Given the description of an element on the screen output the (x, y) to click on. 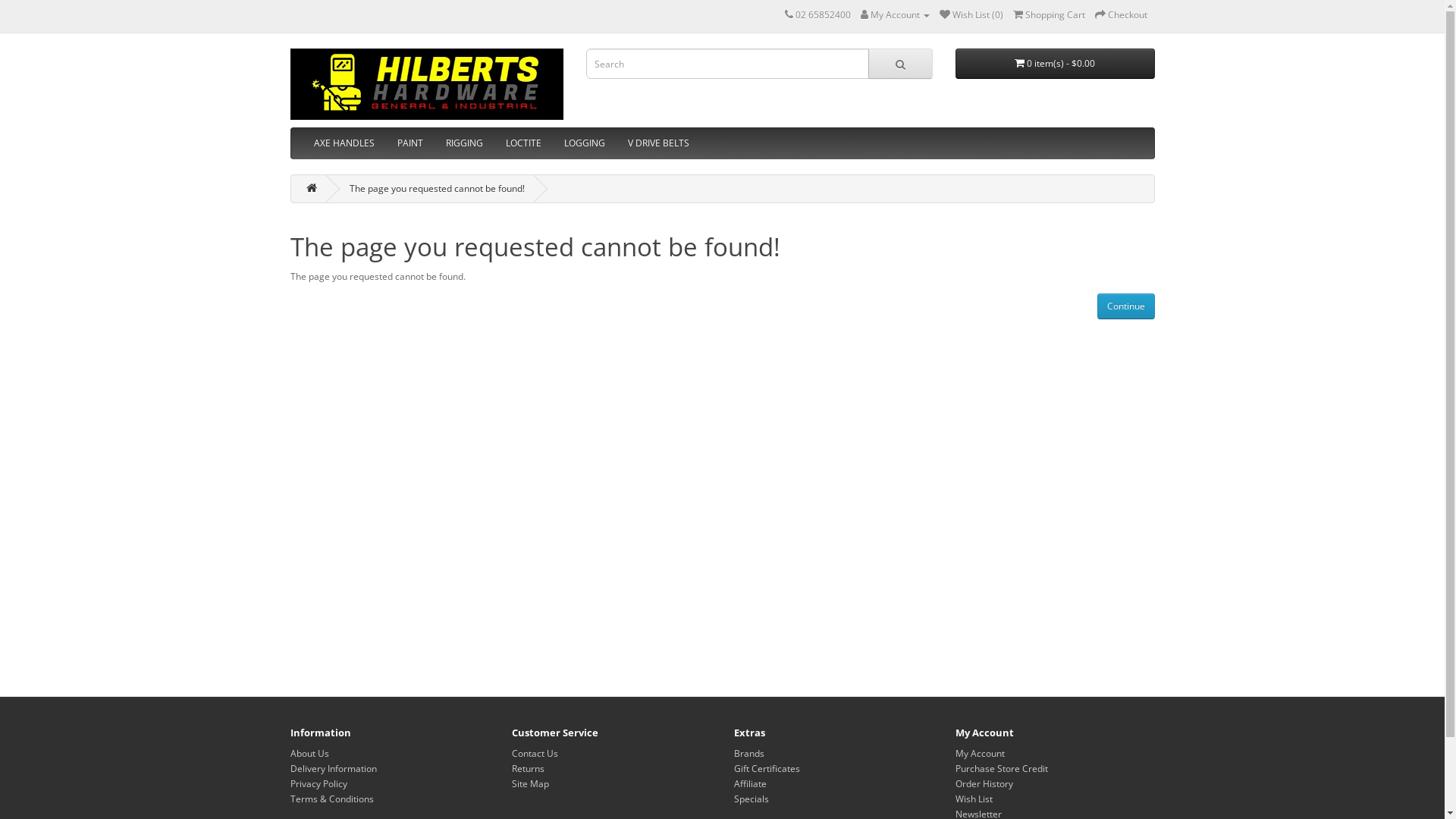
LOCTITE Element type: text (523, 143)
Returns Element type: text (527, 768)
Site Map Element type: text (530, 783)
Order History Element type: text (984, 783)
HILBERTS Element type: hover (425, 83)
Brands Element type: text (749, 752)
Wish List Element type: text (973, 798)
PAINT Element type: text (409, 143)
About Us Element type: text (308, 752)
My Account Element type: text (893, 14)
Contact Us Element type: text (534, 752)
The page you requested cannot be found! Element type: text (436, 188)
AXE HANDLES Element type: text (343, 143)
0 item(s) - $0.00 Element type: text (1054, 63)
Delivery Information Element type: text (332, 768)
Purchase Store Credit Element type: text (1001, 768)
Affiliate Element type: text (750, 783)
Privacy Policy Element type: text (317, 783)
Wish List (0) Element type: text (970, 14)
RIGGING Element type: text (463, 143)
Shopping Cart Element type: text (1049, 14)
LOGGING Element type: text (583, 143)
Terms & Conditions Element type: text (331, 798)
My Account Element type: text (979, 752)
Checkout Element type: text (1121, 14)
Continue Element type: text (1125, 306)
Specials Element type: text (751, 798)
V DRIVE BELTS Element type: text (657, 143)
Gift Certificates Element type: text (767, 768)
